Given the description of an element on the screen output the (x, y) to click on. 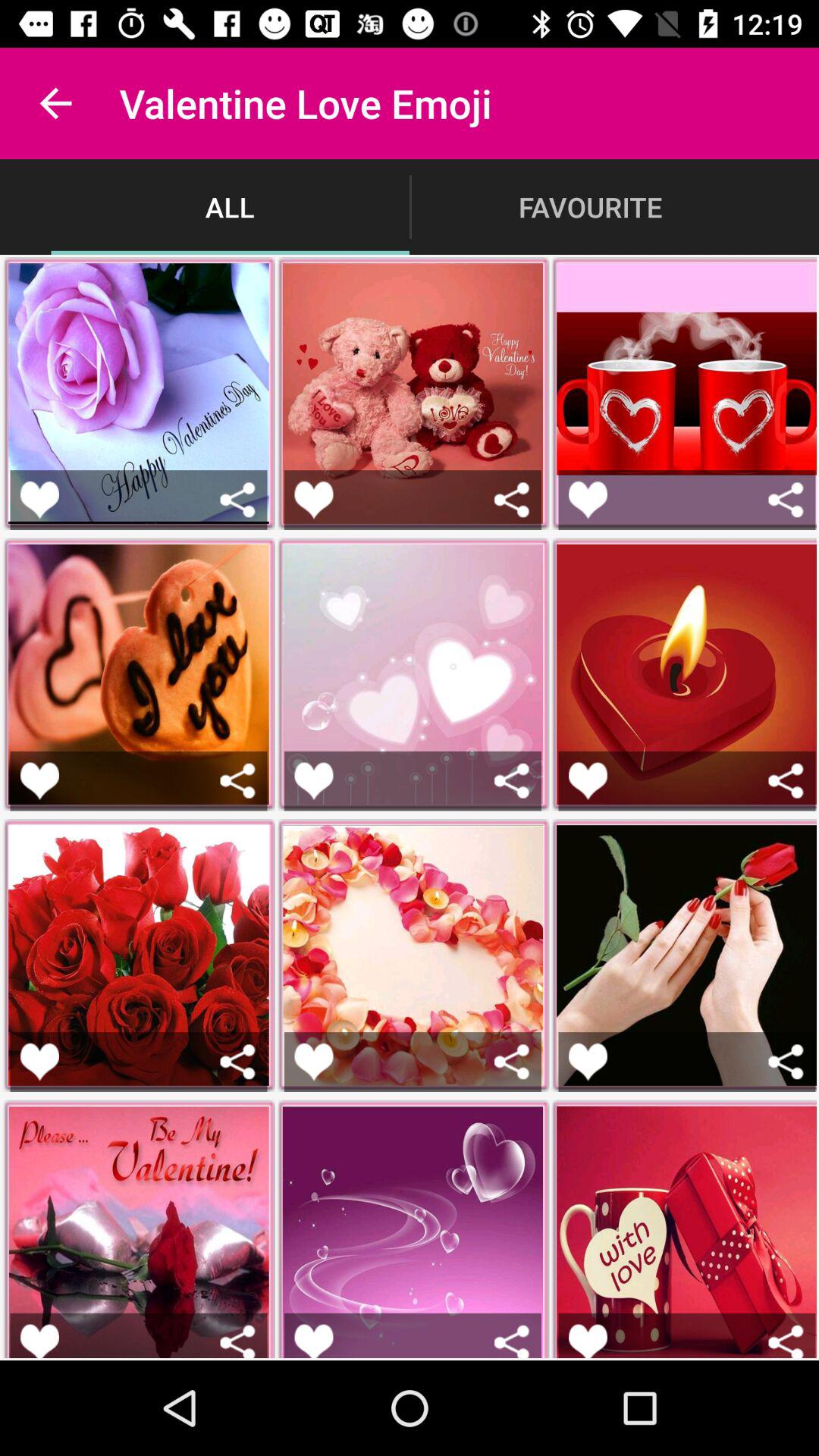
share the article (39, 780)
